Given the description of an element on the screen output the (x, y) to click on. 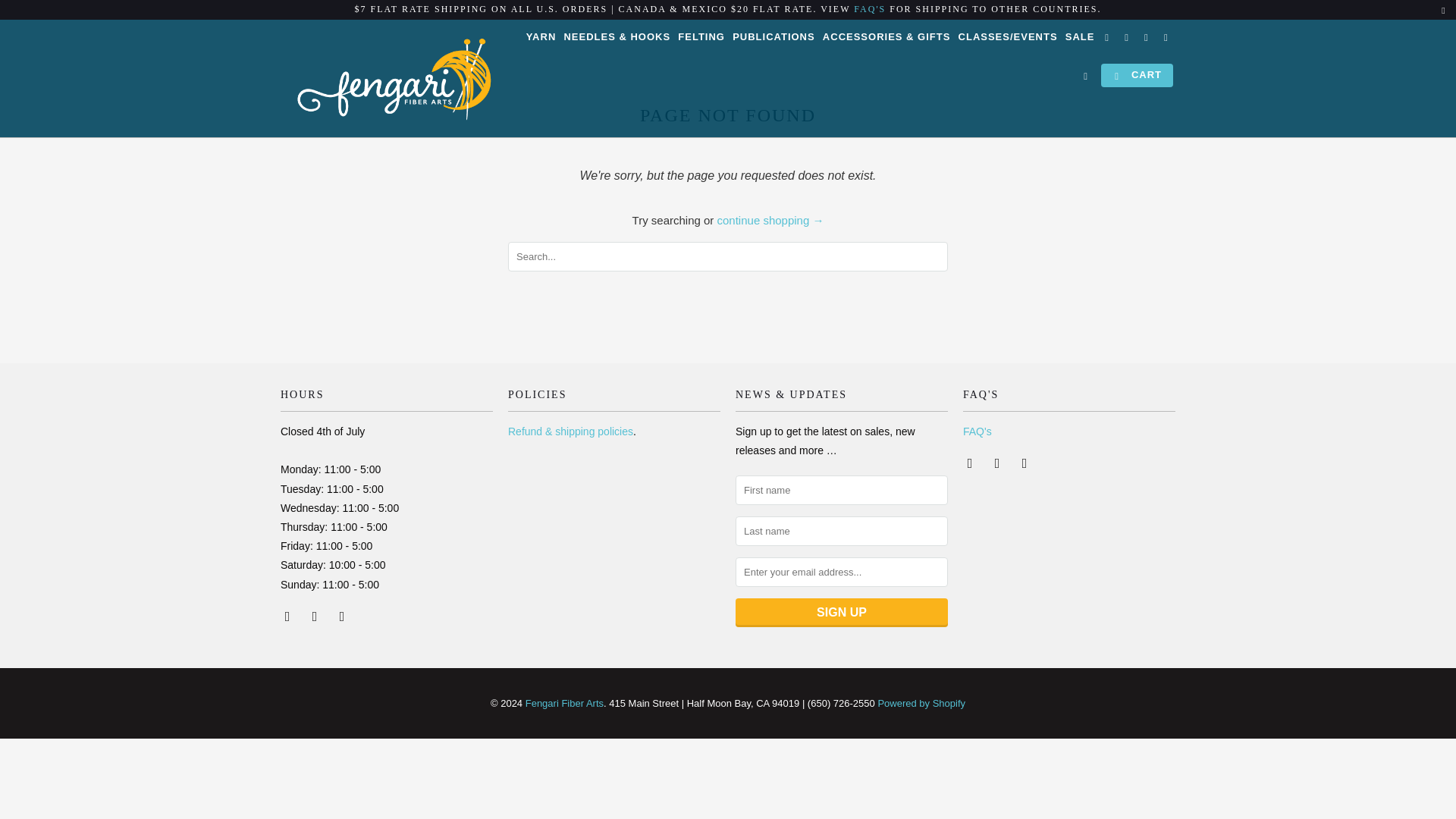
Fengari Fiber Arts (564, 703)
Sign Up (841, 612)
FAQ's (976, 431)
Sign Up (841, 612)
Fengari Fiber Arts on Instagram (315, 615)
FAQs (869, 9)
Fengari Fiber Arts on Facebook (289, 615)
YARN (540, 39)
Fengari Fiber Arts on Facebook (970, 462)
Refund Policy (570, 431)
